Given the description of an element on the screen output the (x, y) to click on. 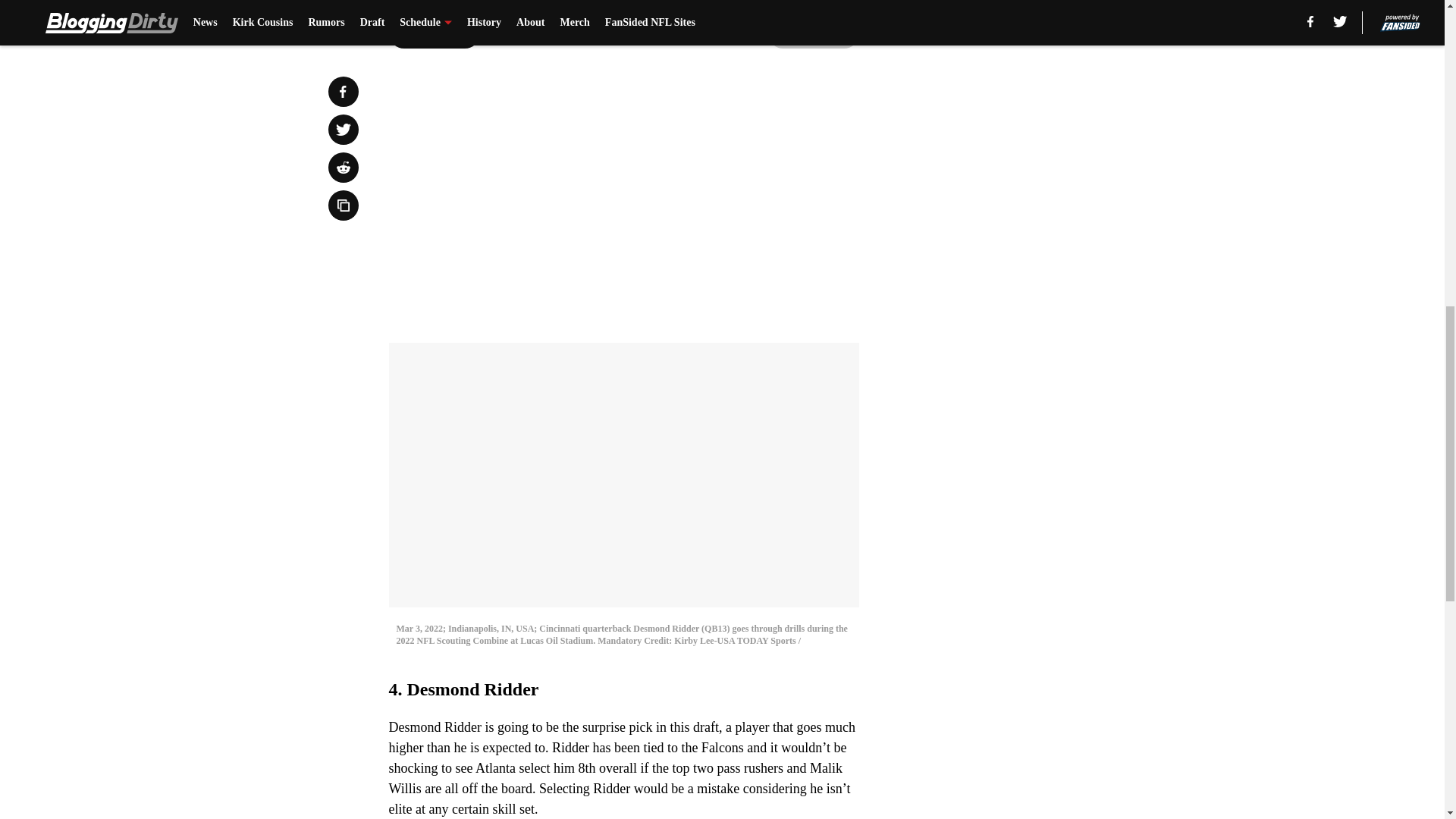
Prev (433, 33)
Next (813, 33)
